Given the description of an element on the screen output the (x, y) to click on. 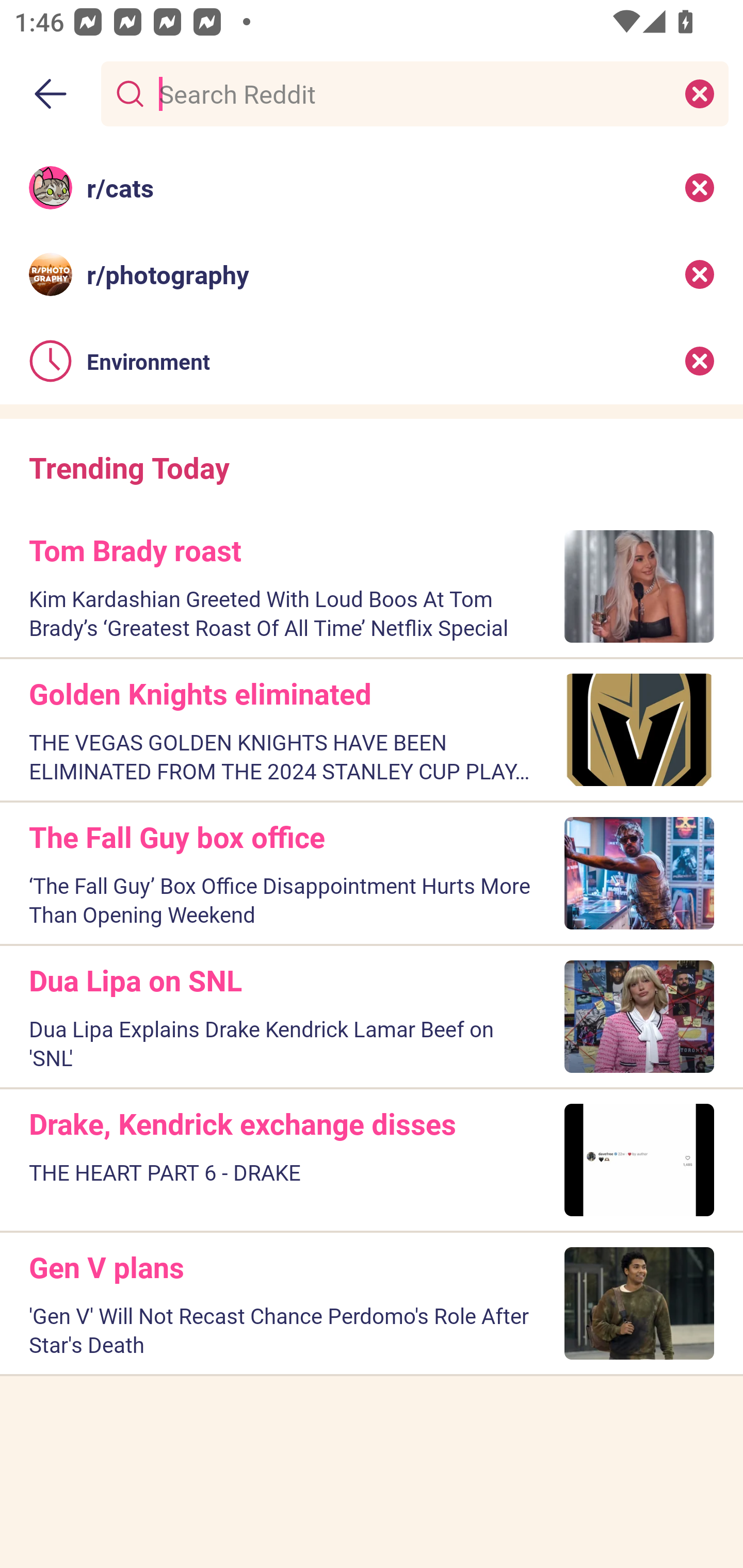
Back (50, 93)
Search Reddit (410, 93)
Clear search (699, 93)
r/cats Recent search: r/cats Remove (371, 187)
Remove (699, 187)
r/photography Recent search: r/photography Remove (371, 274)
Remove (699, 274)
Environment Recent search: Environment Remove (371, 361)
Remove (699, 361)
